Given the description of an element on the screen output the (x, y) to click on. 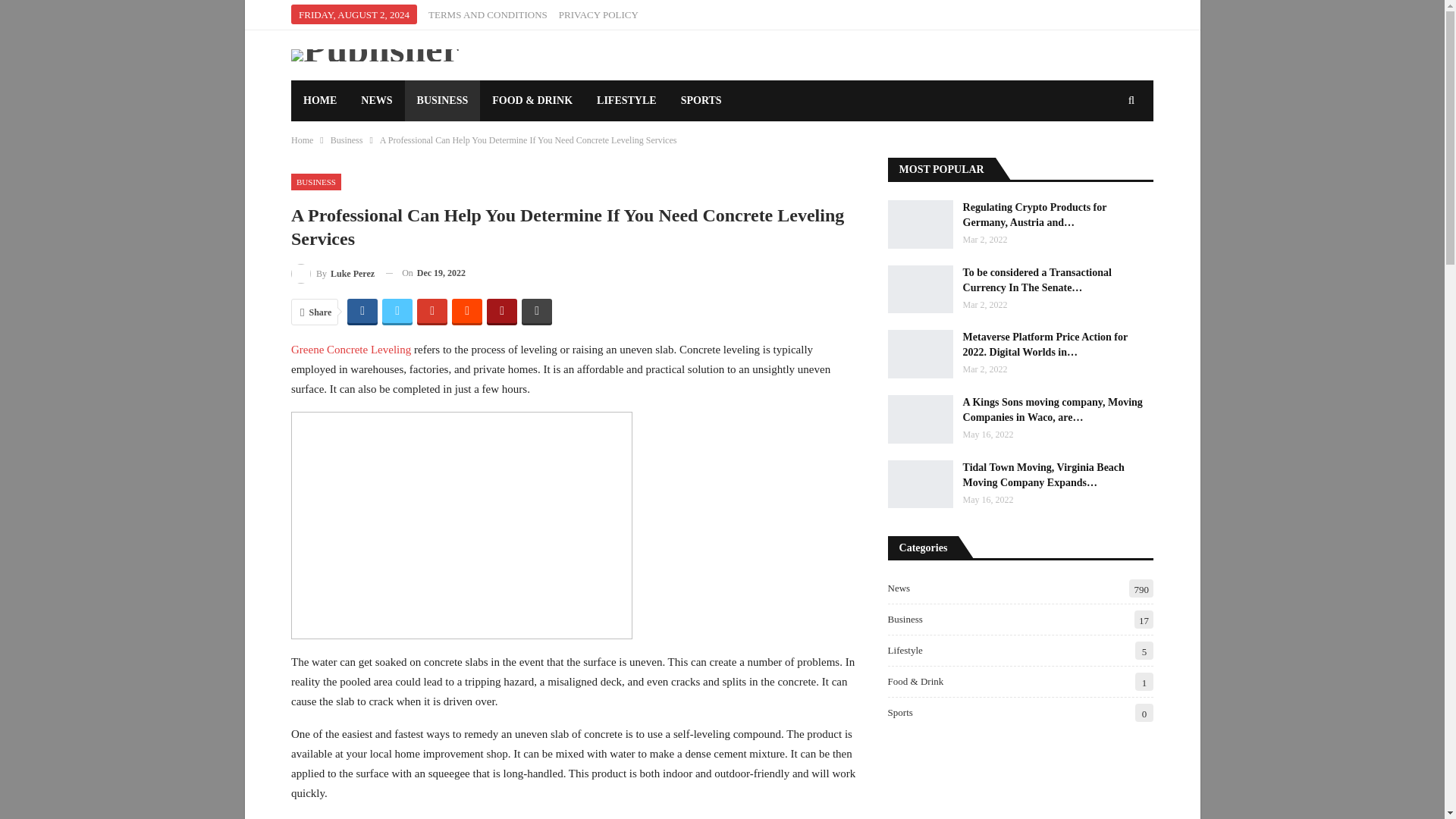
Home (302, 139)
Business (346, 139)
TERMS AND CONDITIONS (487, 14)
HOME (320, 100)
SPORTS (700, 100)
BUSINESS (315, 181)
PRIVACY POLICY (599, 14)
NEWS (376, 100)
By Luke Perez (332, 272)
Browse Author Articles (332, 272)
Greene Concrete Leveling (350, 349)
BUSINESS (442, 100)
LIFESTYLE (626, 100)
